Given the description of an element on the screen output the (x, y) to click on. 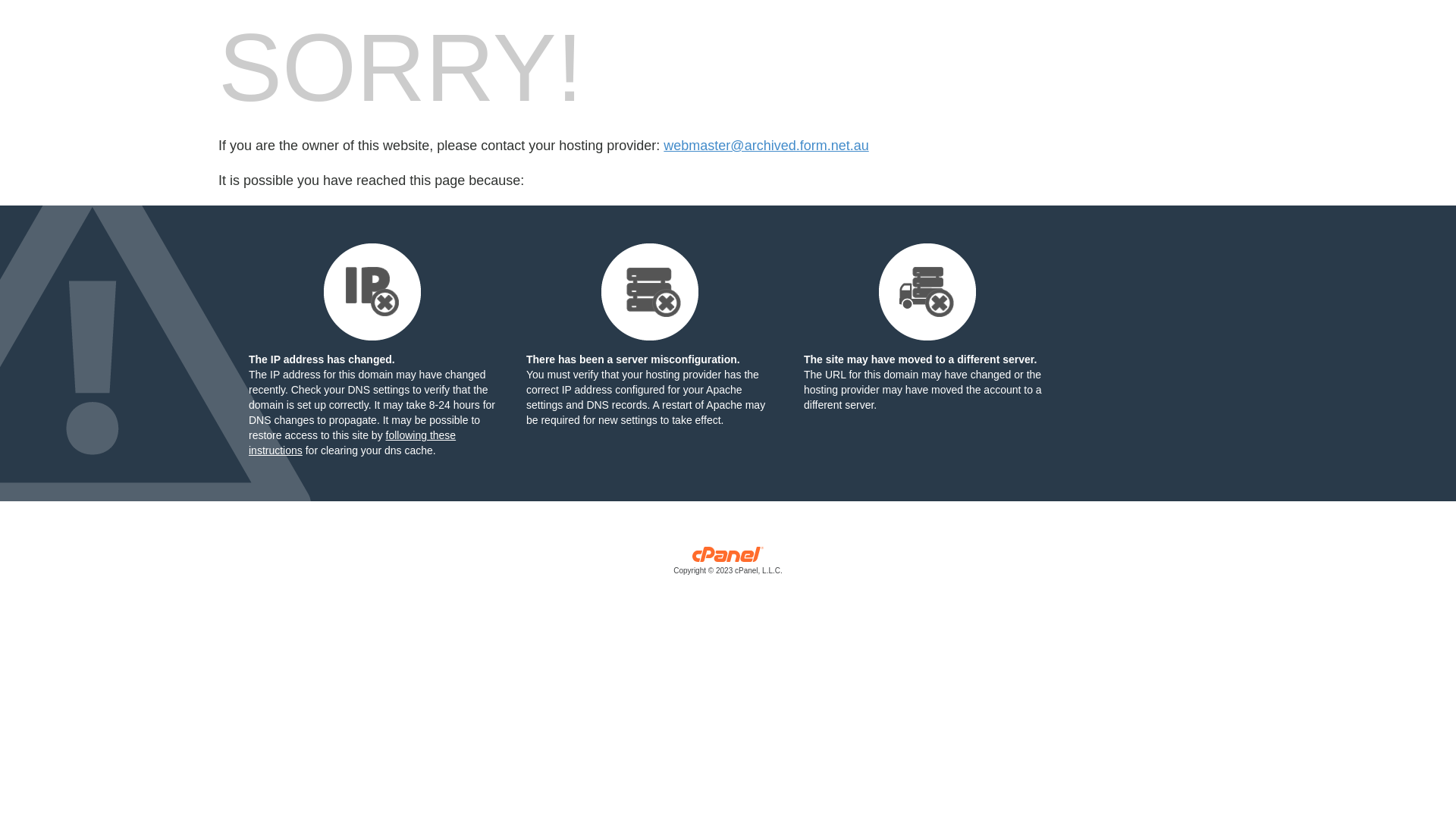
following these instructions Element type: text (351, 442)
webmaster@archived.form.net.au Element type: text (765, 145)
